Given the description of an element on the screen output the (x, y) to click on. 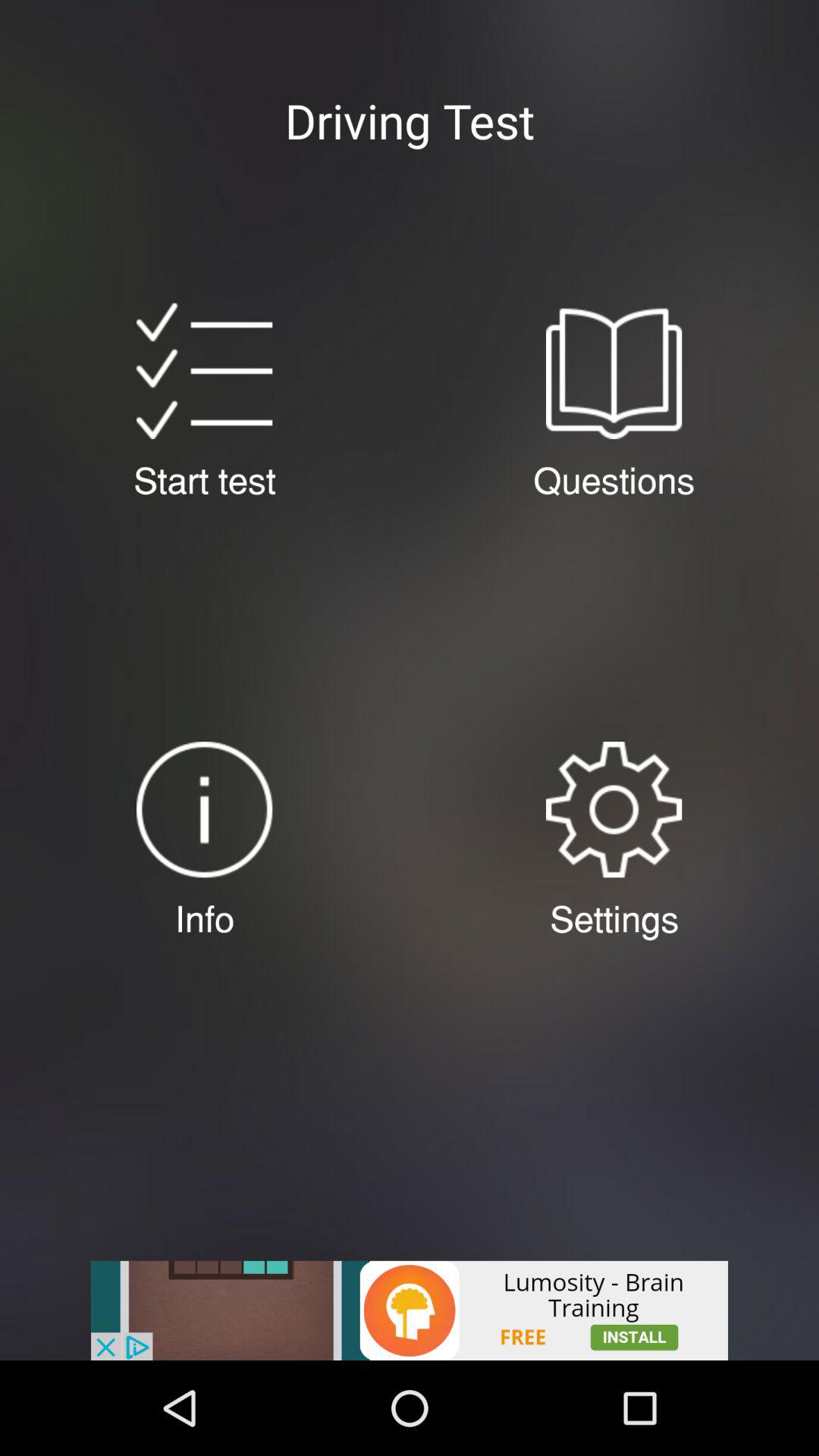
select settings menu (613, 809)
